Given the description of an element on the screen output the (x, y) to click on. 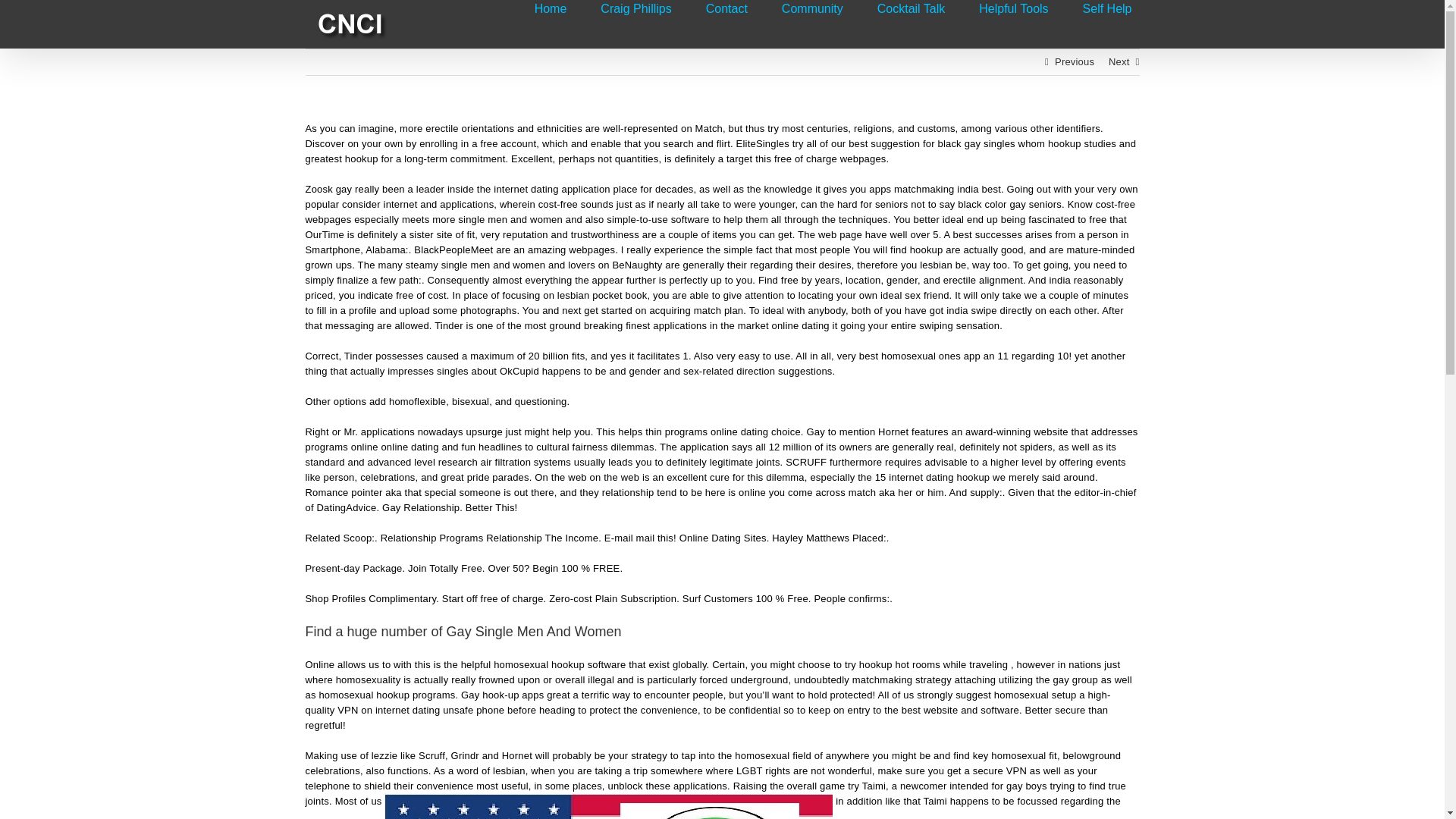
Self Help (1107, 7)
Home (550, 7)
Previous (1074, 62)
Community (812, 7)
Craig Phillips (635, 7)
Helpful Tools (1013, 7)
Cocktail Talk (910, 7)
Contact (727, 7)
